Given the description of an element on the screen output the (x, y) to click on. 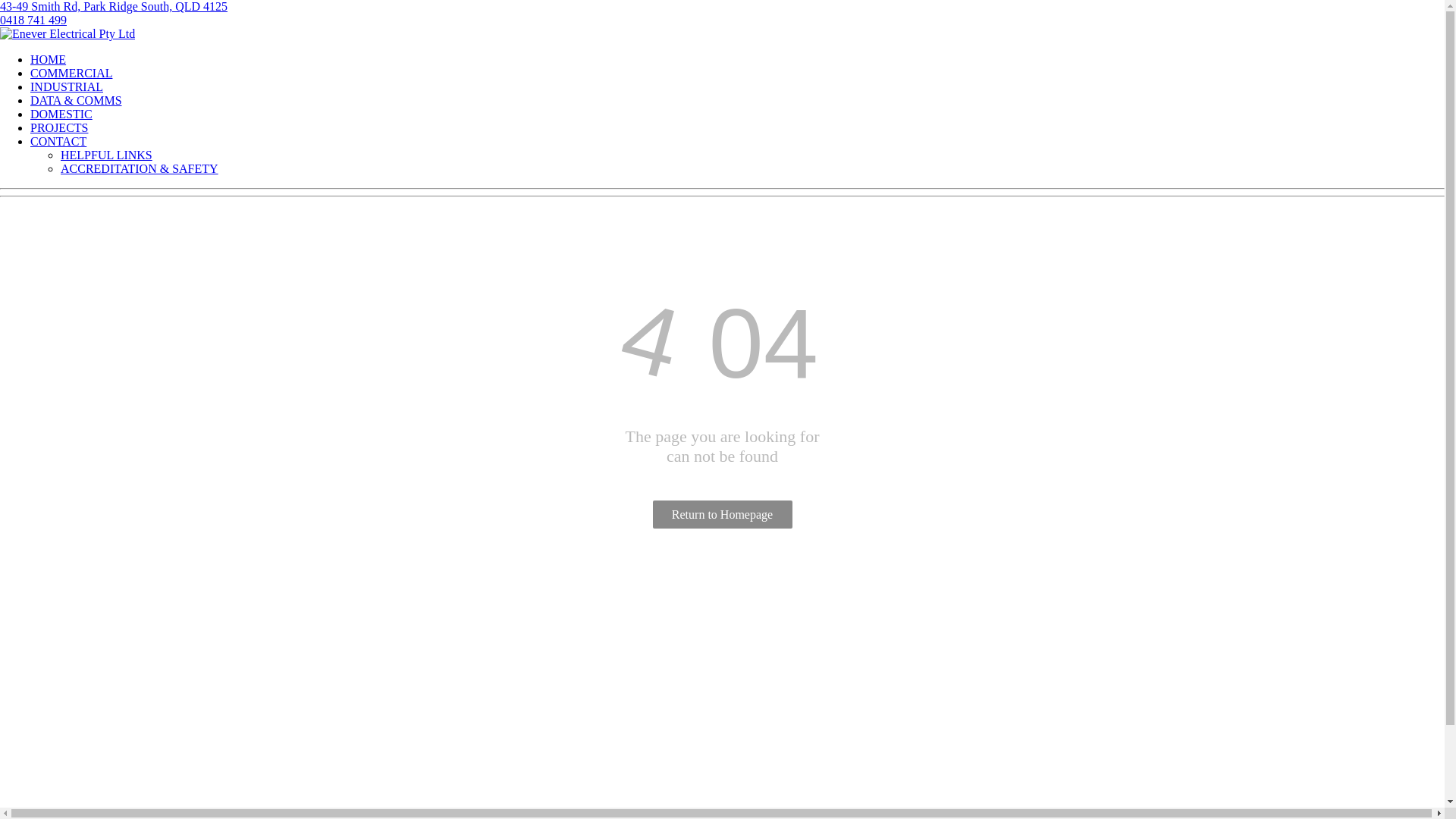
Enever Electrical Pty Ltd Element type: hover (67, 33)
PROJECTS Element type: text (58, 127)
43-49 Smith Rd, Park Ridge South, QLD 4125 Element type: text (113, 6)
CONTACT Element type: text (58, 140)
0418 741 499 Element type: text (33, 19)
ACCREDITATION & SAFETY Element type: text (139, 168)
DOMESTIC Element type: text (61, 113)
admin@eneverelectrical.com.au Element type: text (110, 628)
0418 741 499 Element type: text (65, 604)
Return to Homepage Element type: text (721, 514)
INDUSTRIAL Element type: text (66, 86)
HOME Element type: text (47, 59)
HELPFUL LINKS Element type: text (106, 154)
DATA & COMMS Element type: text (76, 100)
COMMERCIAL Element type: text (71, 72)
